Given the description of an element on the screen output the (x, y) to click on. 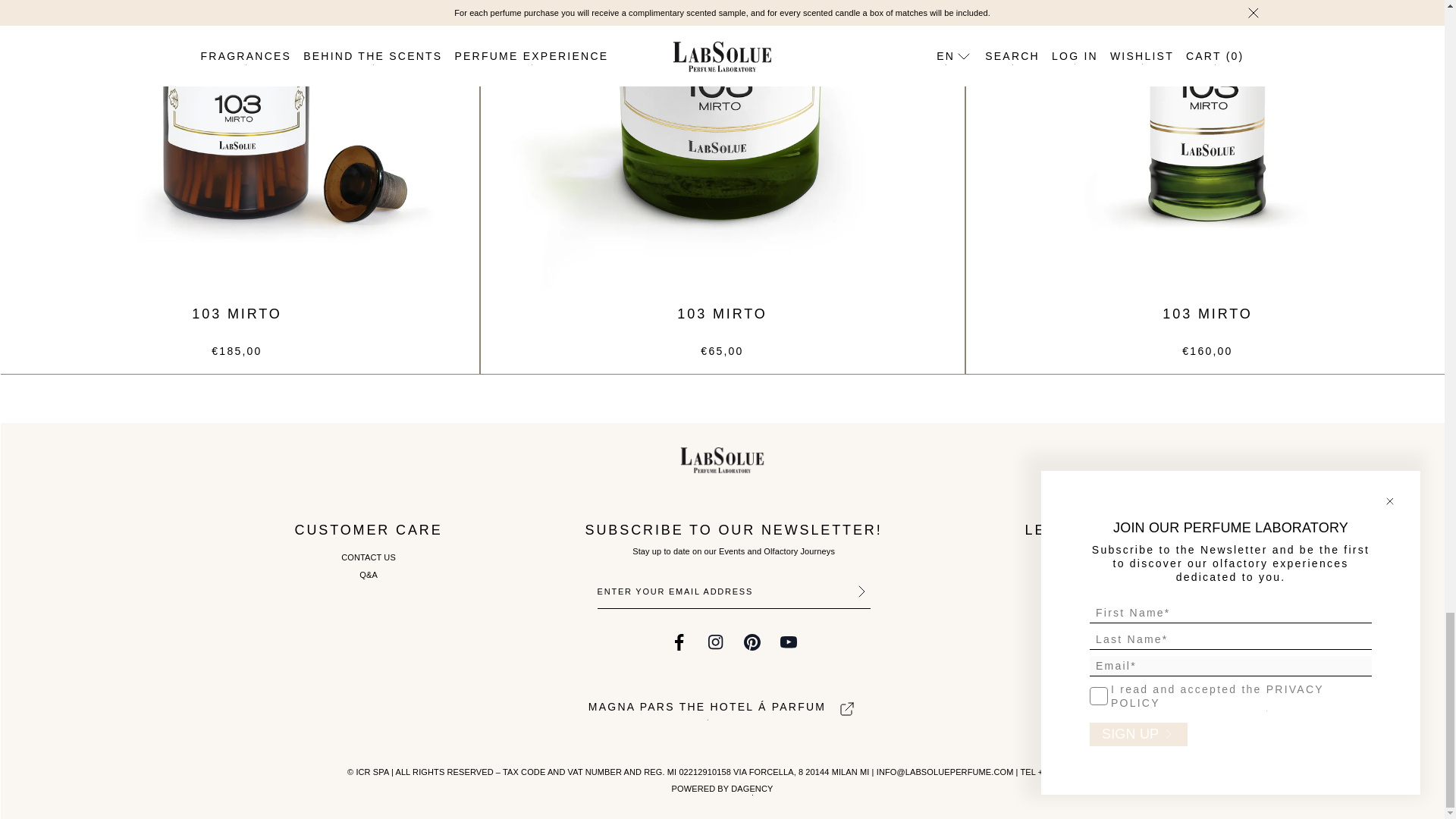
LabSolue on facebook (678, 642)
LabSolue on pinterest (751, 642)
LabSolue on youtube (787, 642)
LabSolue on instagram (715, 642)
